Given the description of an element on the screen output the (x, y) to click on. 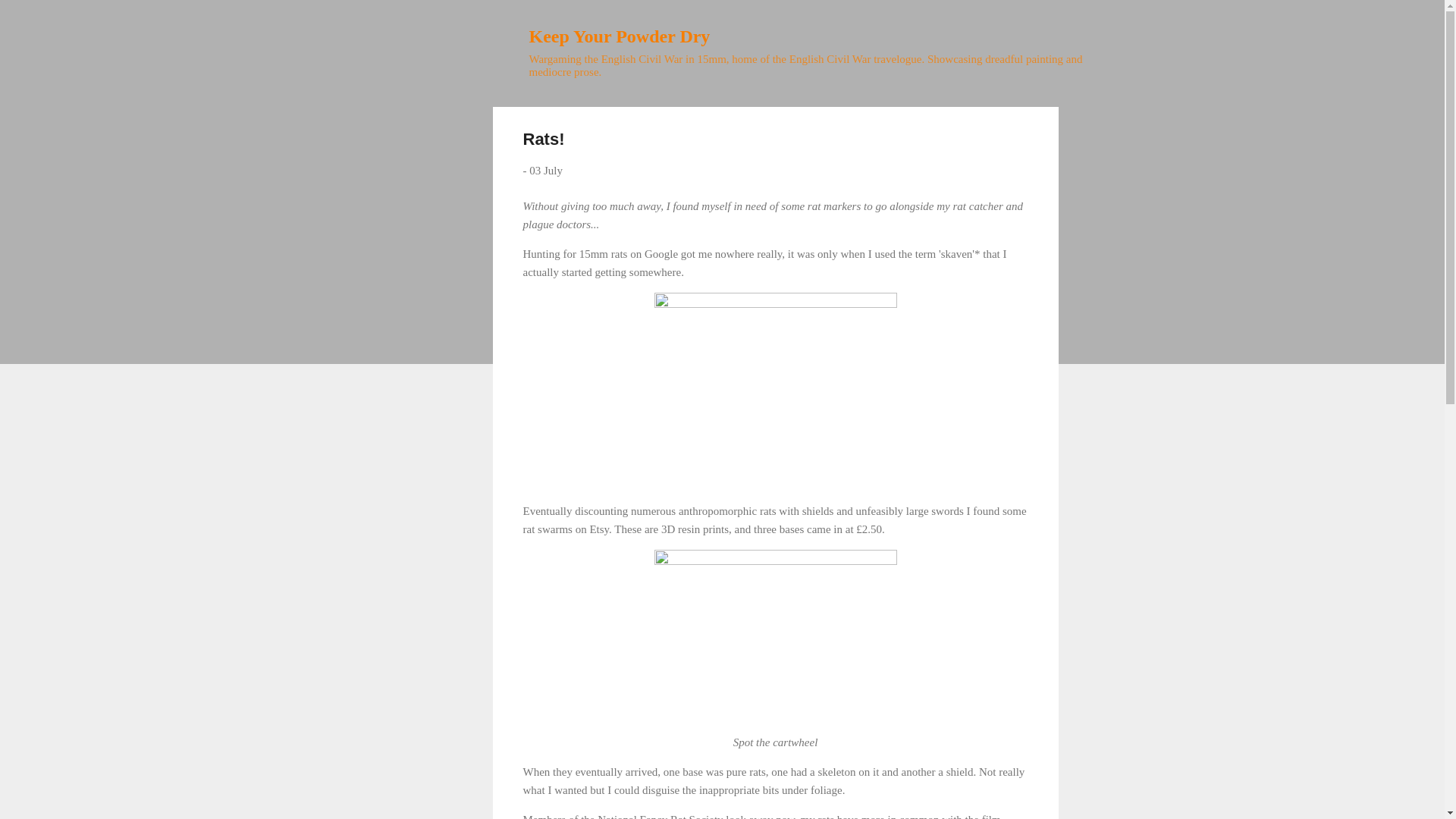
permanent link (545, 170)
Search (29, 18)
Keep Your Powder Dry (619, 35)
03 July (545, 170)
